Given the description of an element on the screen output the (x, y) to click on. 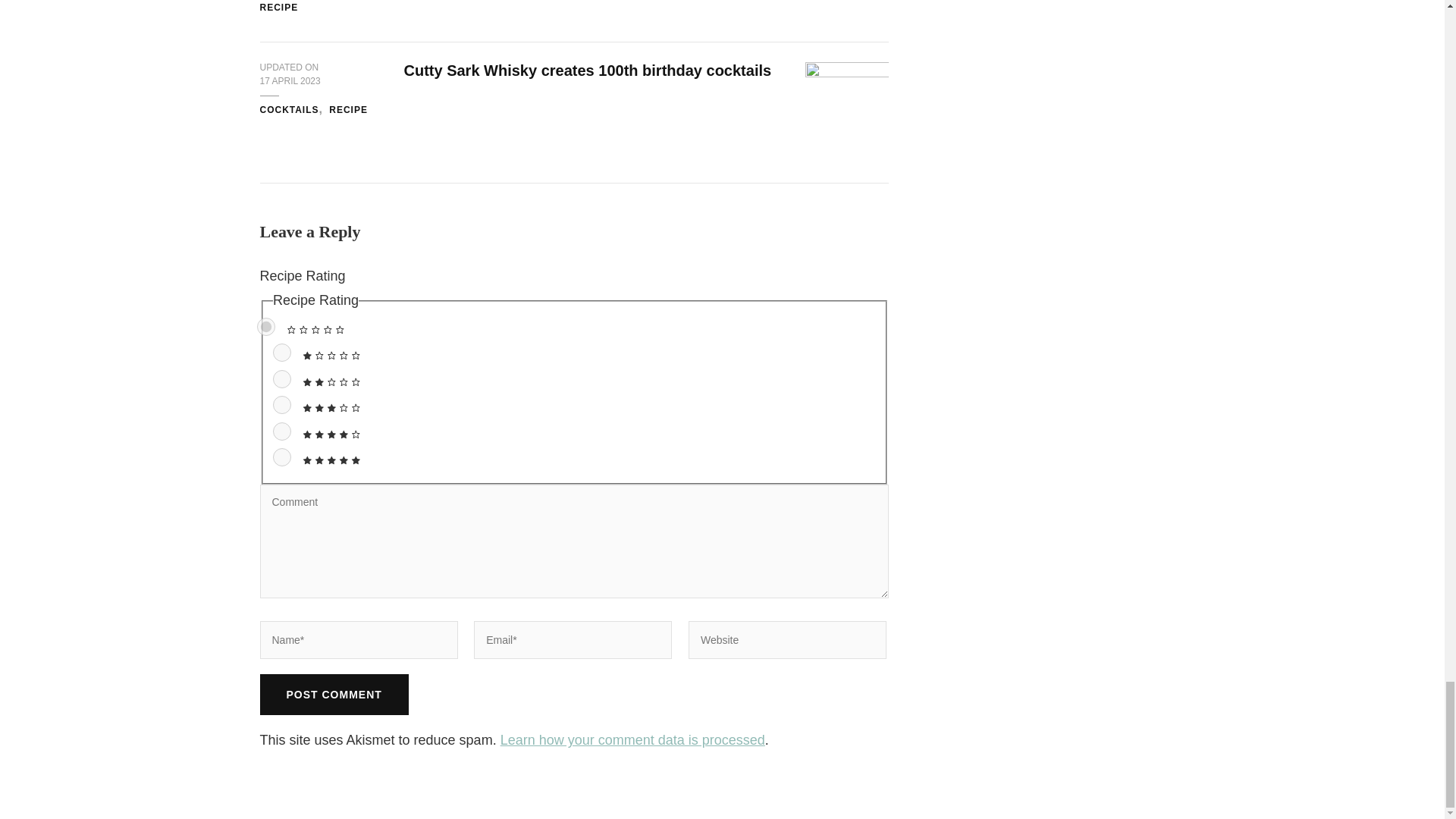
3 (282, 404)
1 (282, 352)
2 (282, 379)
5 (282, 456)
Post Comment (333, 694)
4 (282, 431)
0 (266, 326)
